Given the description of an element on the screen output the (x, y) to click on. 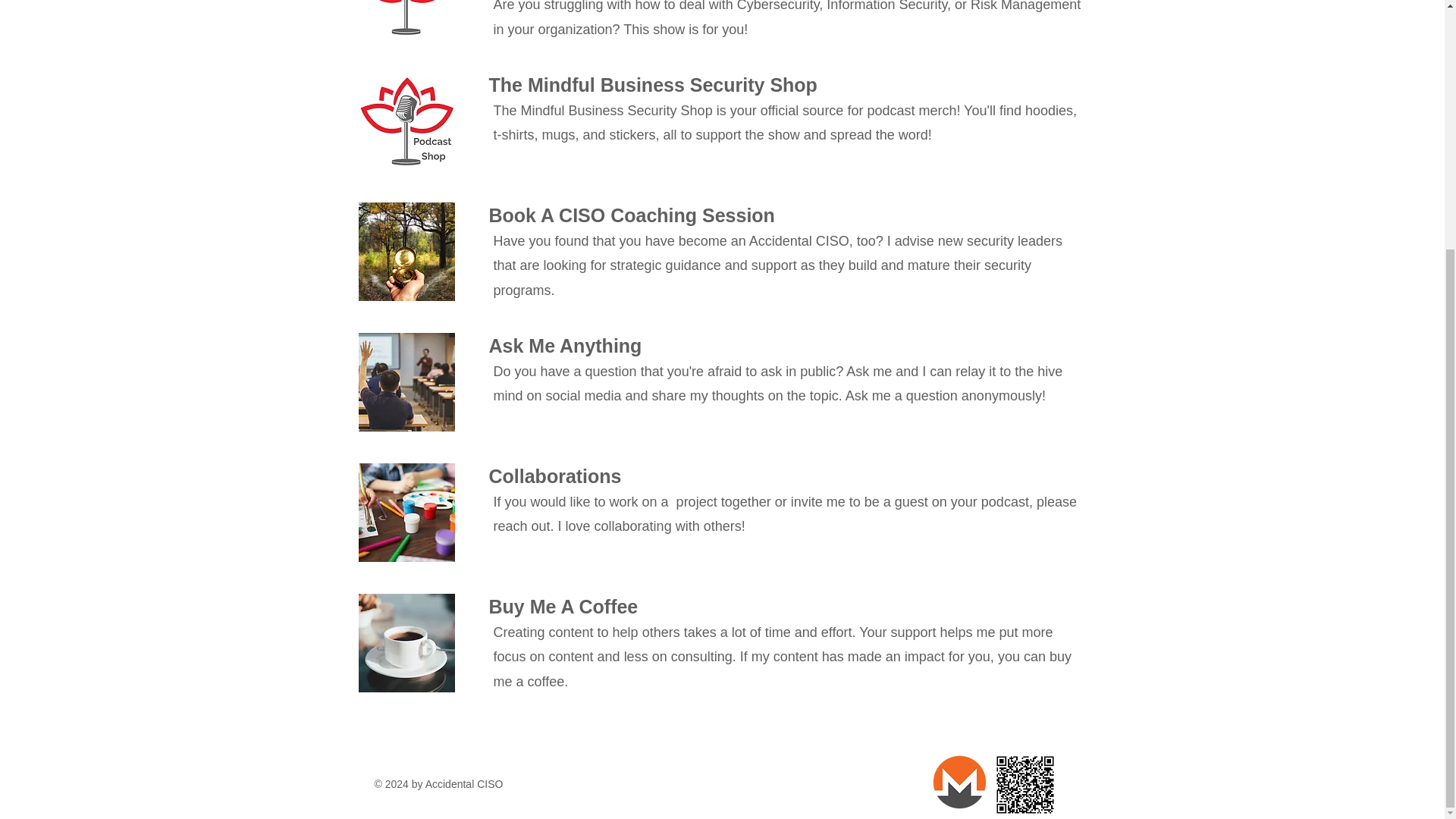
Listen Now! (406, 20)
Buy Podcast Merch! (406, 121)
Contact Me Today! (406, 512)
Ask Me Anything! (406, 381)
Buy Me A Coffee! (406, 642)
Book A Coaching Session! (406, 251)
